Given the description of an element on the screen output the (x, y) to click on. 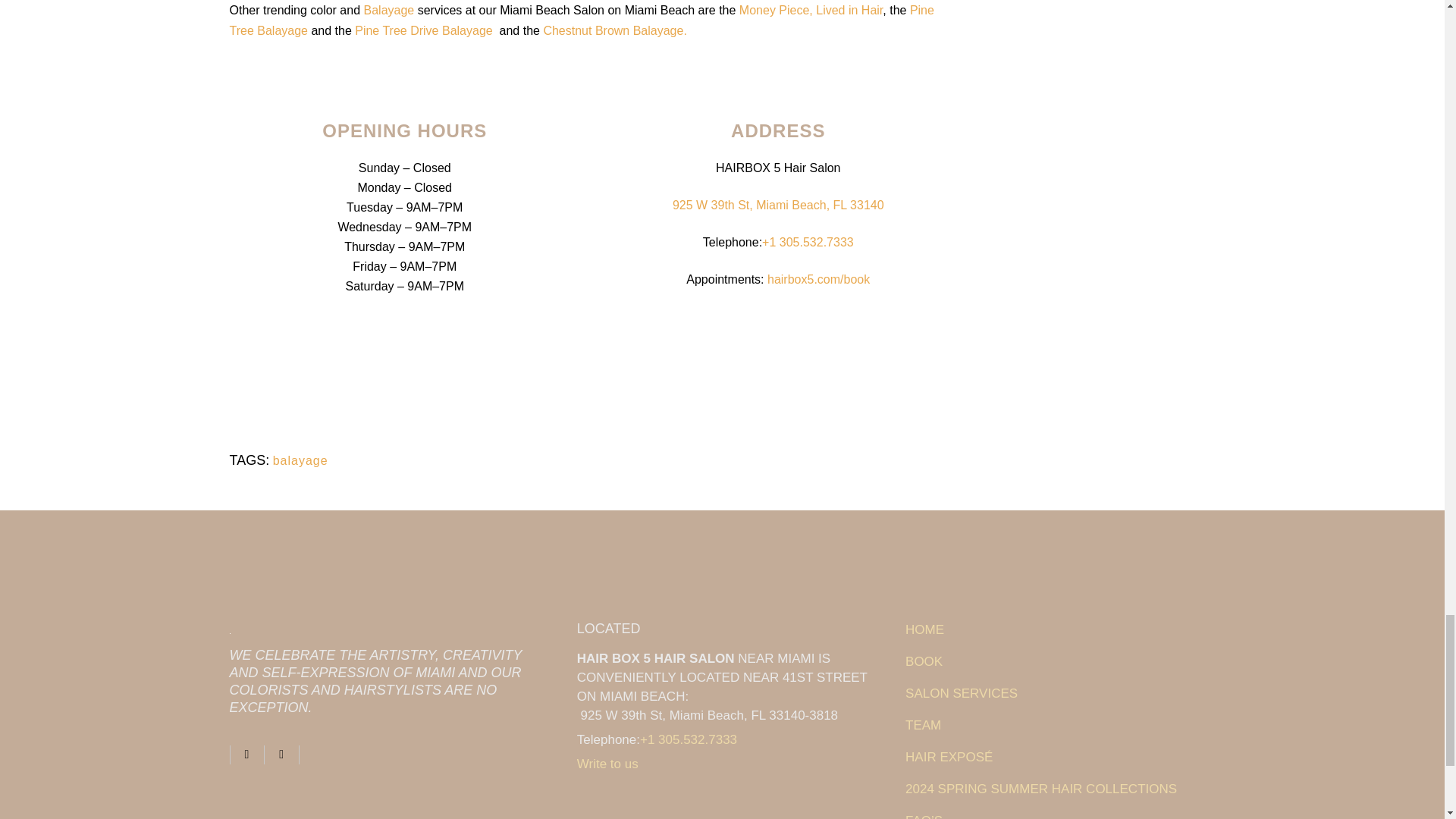
Chestnut Brown Balayage. (614, 30)
balayage (301, 460)
Lived in Hair (848, 10)
For the very best in Hair Miami Beach (1059, 756)
Pine Tree Drive Balayage  (425, 30)
Balayage (389, 10)
Money Piece, (775, 10)
Pine Tree Balayage (580, 20)
925 W 39th St, Miami Beach, FL 33140 (777, 205)
